Given the description of an element on the screen output the (x, y) to click on. 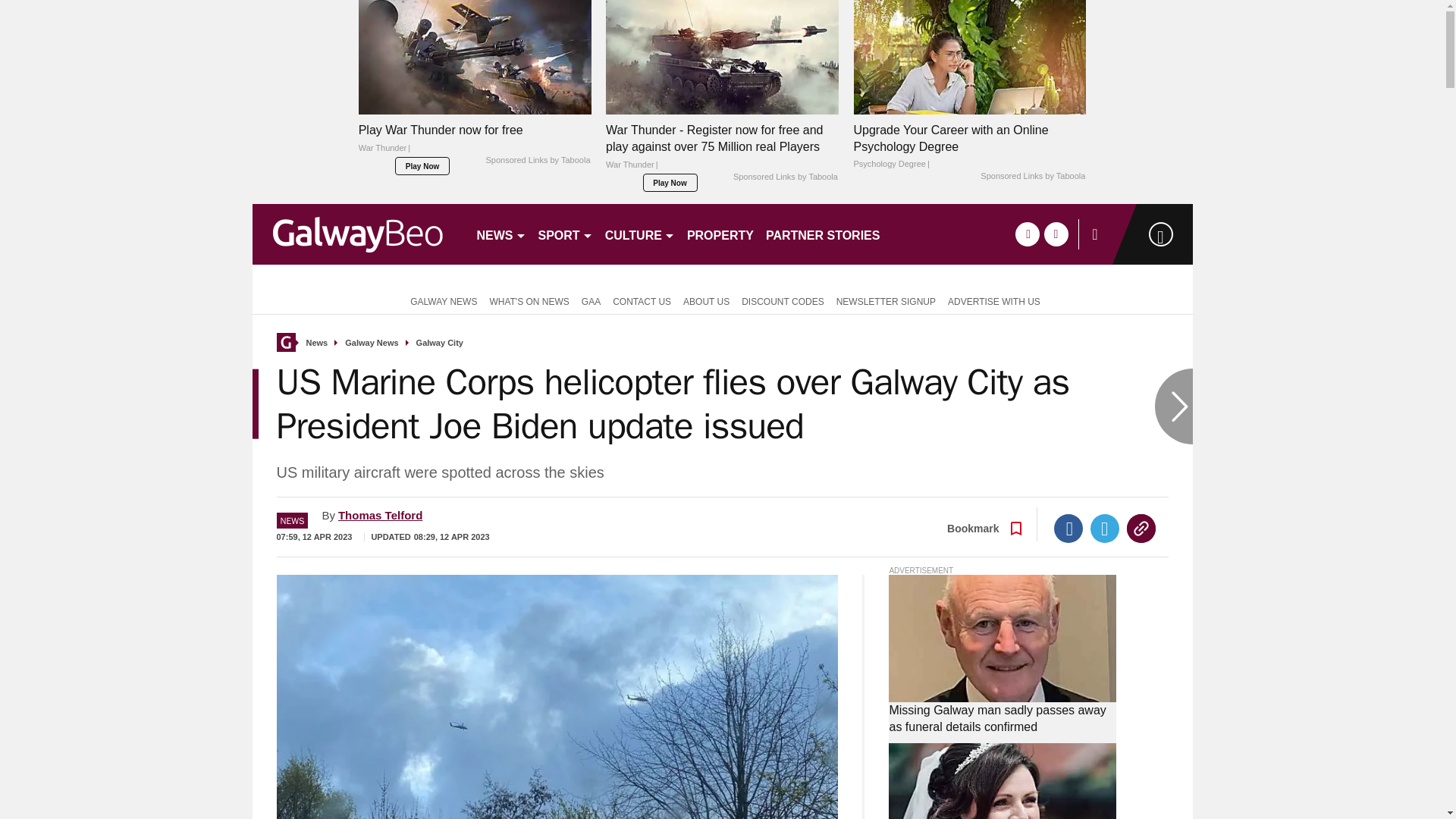
Play War Thunder now for free (474, 57)
PROPERTY (720, 233)
Sponsored Links by Taboola (785, 176)
CULTURE (639, 233)
Twitter (1104, 528)
NEWS (500, 233)
Facebook (1068, 528)
facebook (1026, 233)
Sponsored Links by Taboola (536, 160)
Upgrade Your Career with an Online Psychology Degree (969, 146)
Play Now (421, 166)
Play War Thunder now for free (474, 143)
Play Now (670, 182)
